Given the description of an element on the screen output the (x, y) to click on. 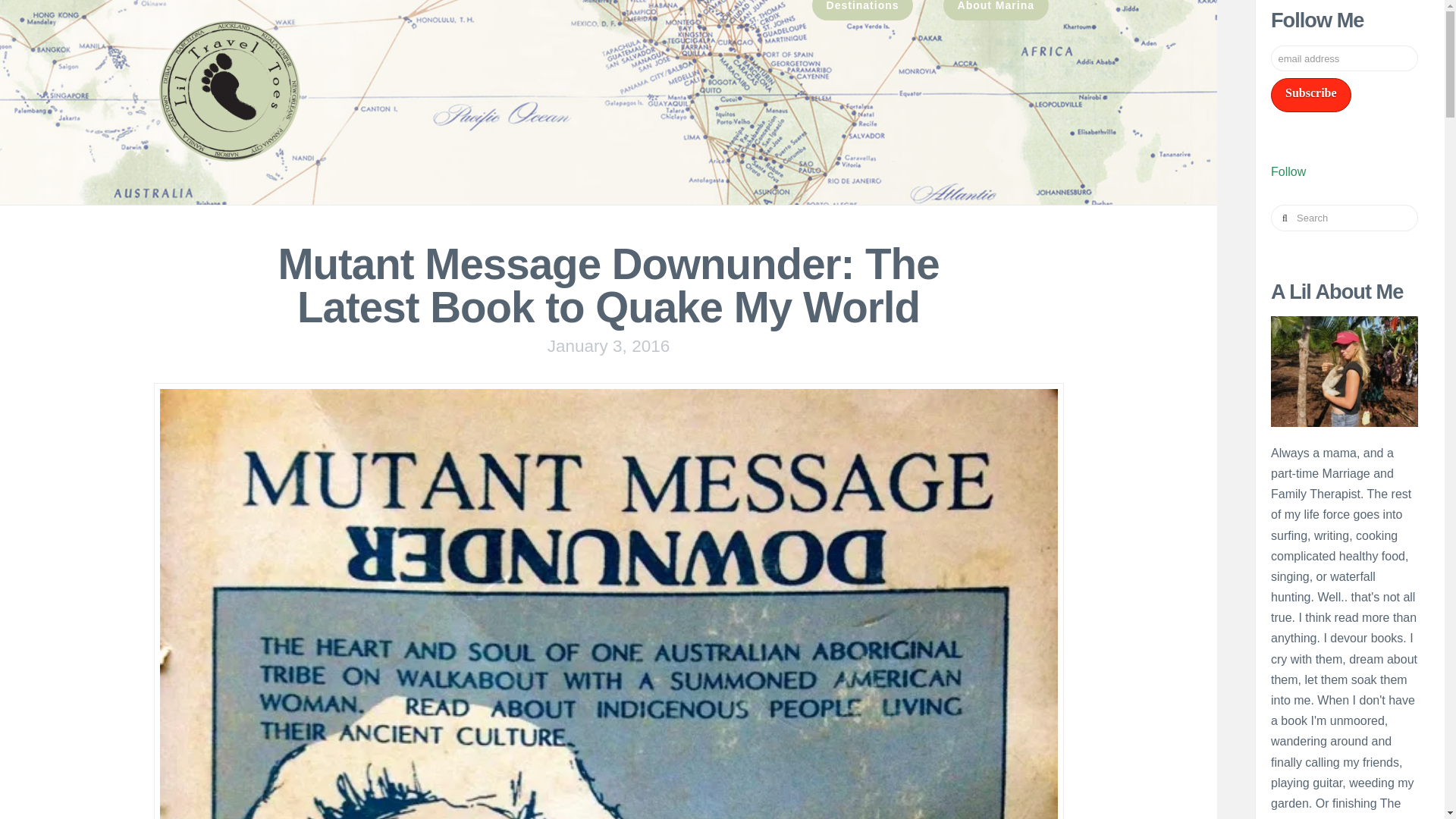
Subscribe (1311, 94)
Subscribe (1311, 94)
Follow (1288, 171)
Travel.  Surf.  Eat.  Explore (228, 91)
